Given the description of an element on the screen output the (x, y) to click on. 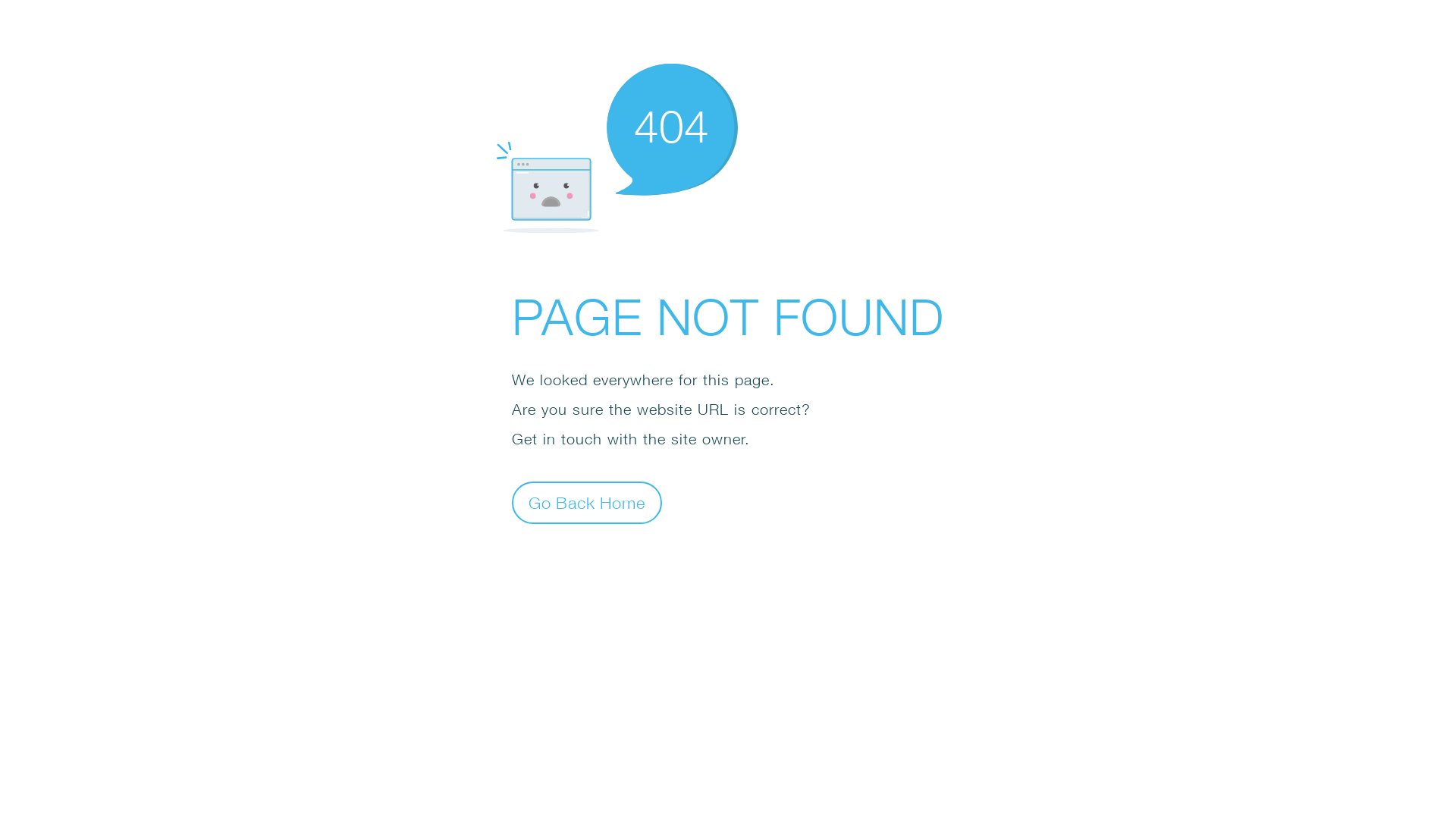
Go Back Home Element type: text (586, 502)
